Given the description of an element on the screen output the (x, y) to click on. 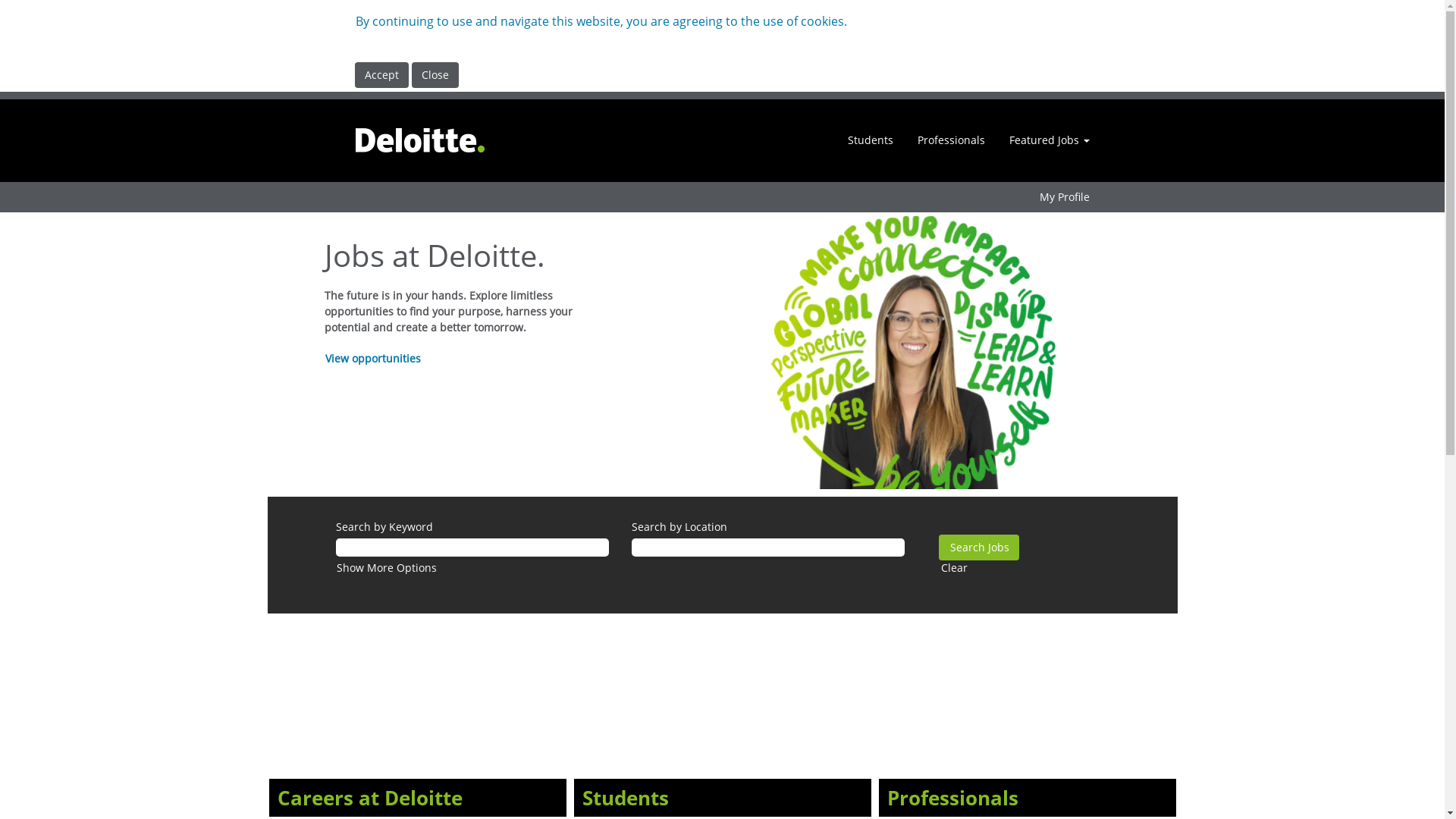
Students Element type: text (624, 797)
Careers at Deloitte Element type: text (369, 797)
My Profile Element type: text (1064, 197)
Discover more Element type: hover (268, 636)
View Professional Jobs Element type: hover (878, 636)
Professionals Element type: text (950, 139)
Search Jobs Element type: text (978, 547)
Deloitte Australia Element type: hover (419, 140)
Close Element type: text (434, 74)
Students Element type: text (869, 139)
Accept Element type: text (381, 74)
Clear Element type: text (954, 567)
View opportunities Element type: text (372, 358)
Featured Jobs Element type: text (1049, 139)
Professionals Element type: text (951, 797)
View Student Jobs Element type: hover (573, 636)
Show More Options Element type: text (385, 567)
